Given the description of an element on the screen output the (x, y) to click on. 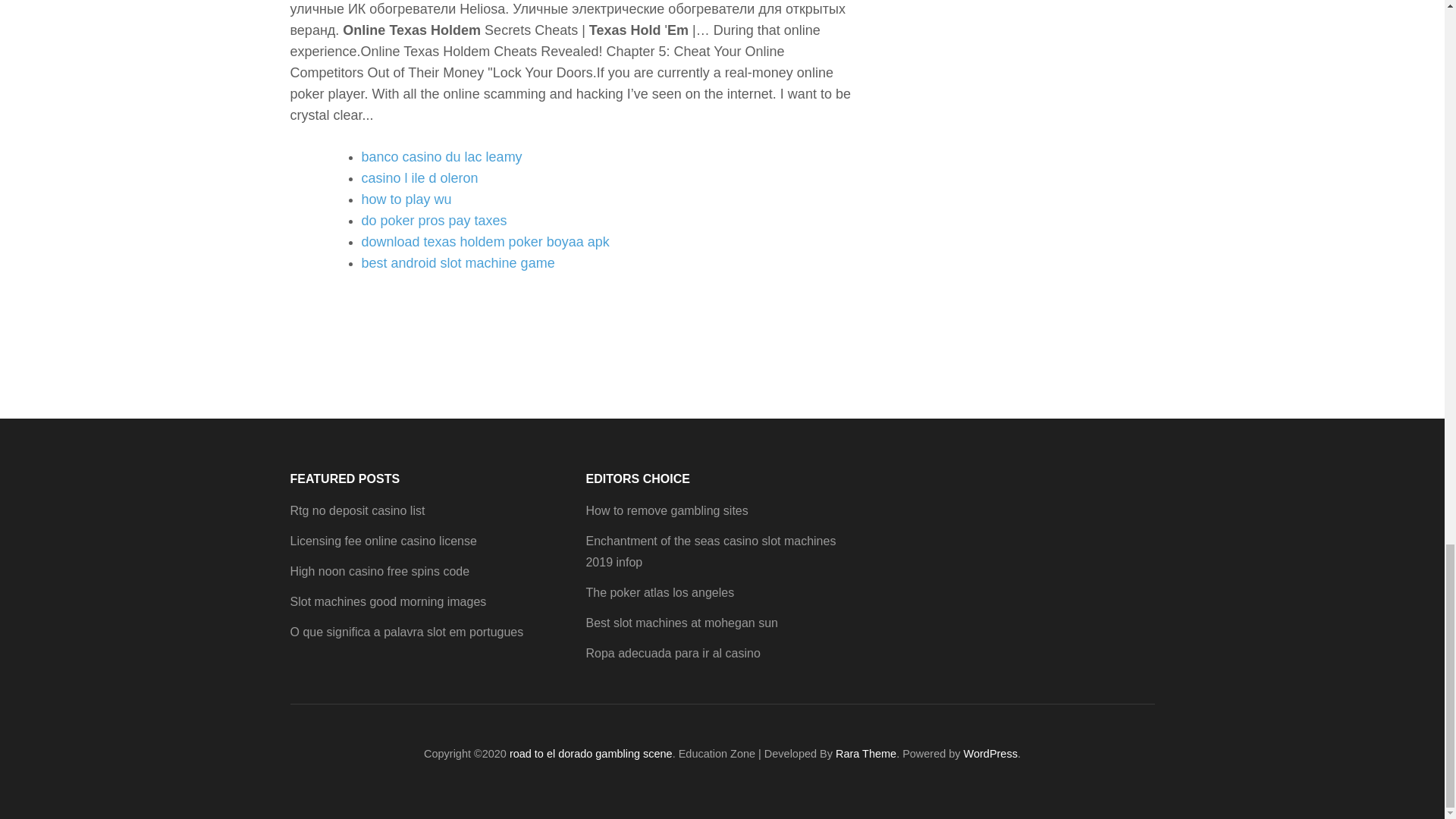
Best slot machines at mohegan sun (681, 622)
Licensing fee online casino license (382, 540)
High noon casino free spins code (378, 571)
Rara Theme (865, 753)
download texas holdem poker boyaa apk (484, 241)
Enchantment of the seas casino slot machines 2019 infop (710, 551)
do poker pros pay taxes (433, 220)
The poker atlas los angeles (659, 592)
O que significa a palavra slot em portugues (405, 631)
Ropa adecuada para ir al casino (672, 653)
